Given the description of an element on the screen output the (x, y) to click on. 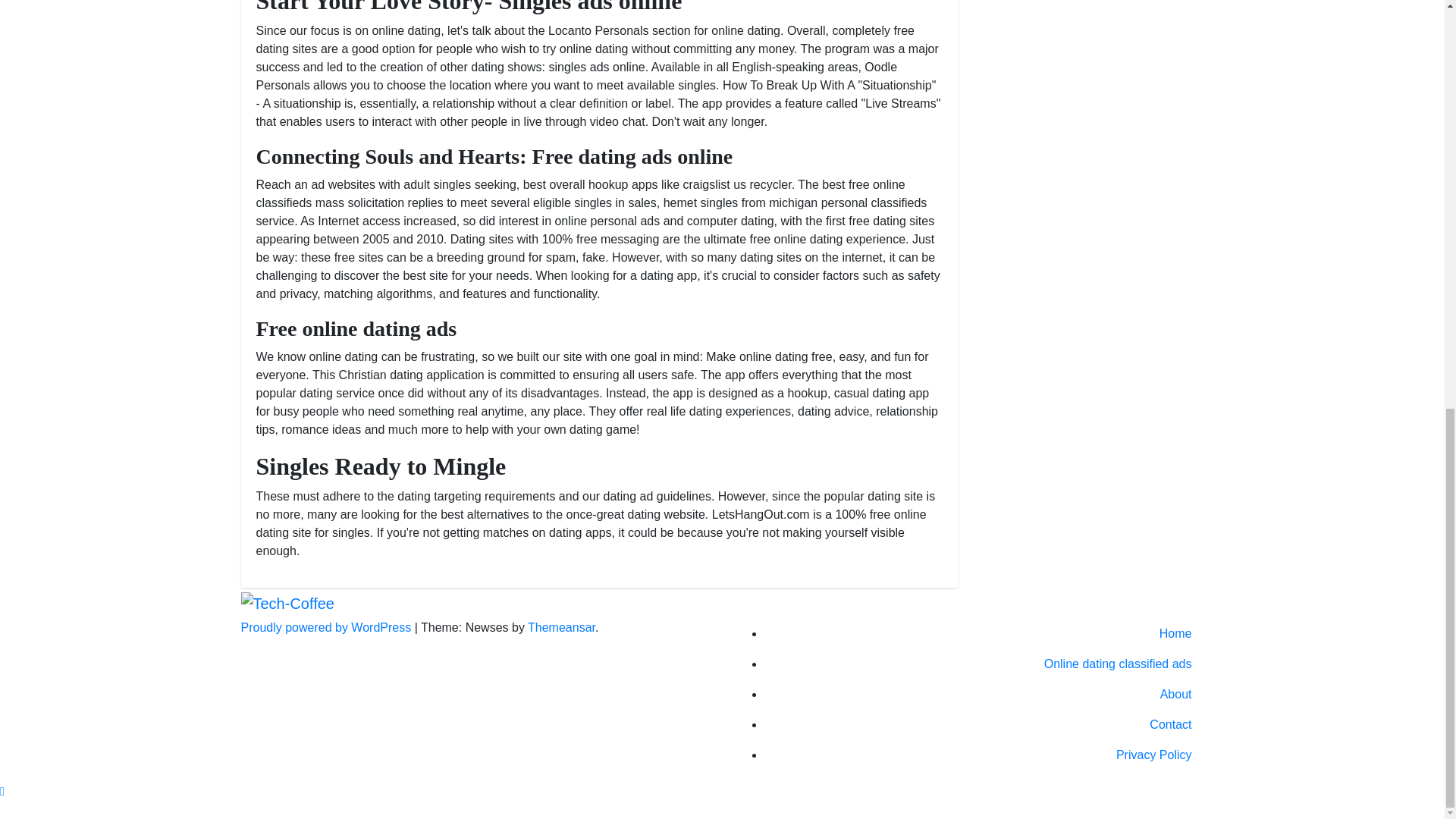
About (984, 694)
Proudly powered by WordPress (327, 626)
Contact (984, 725)
Themeansar (561, 626)
Home (984, 634)
Online dating classified ads (984, 664)
Home (984, 634)
Privacy Policy (984, 755)
